Given the description of an element on the screen output the (x, y) to click on. 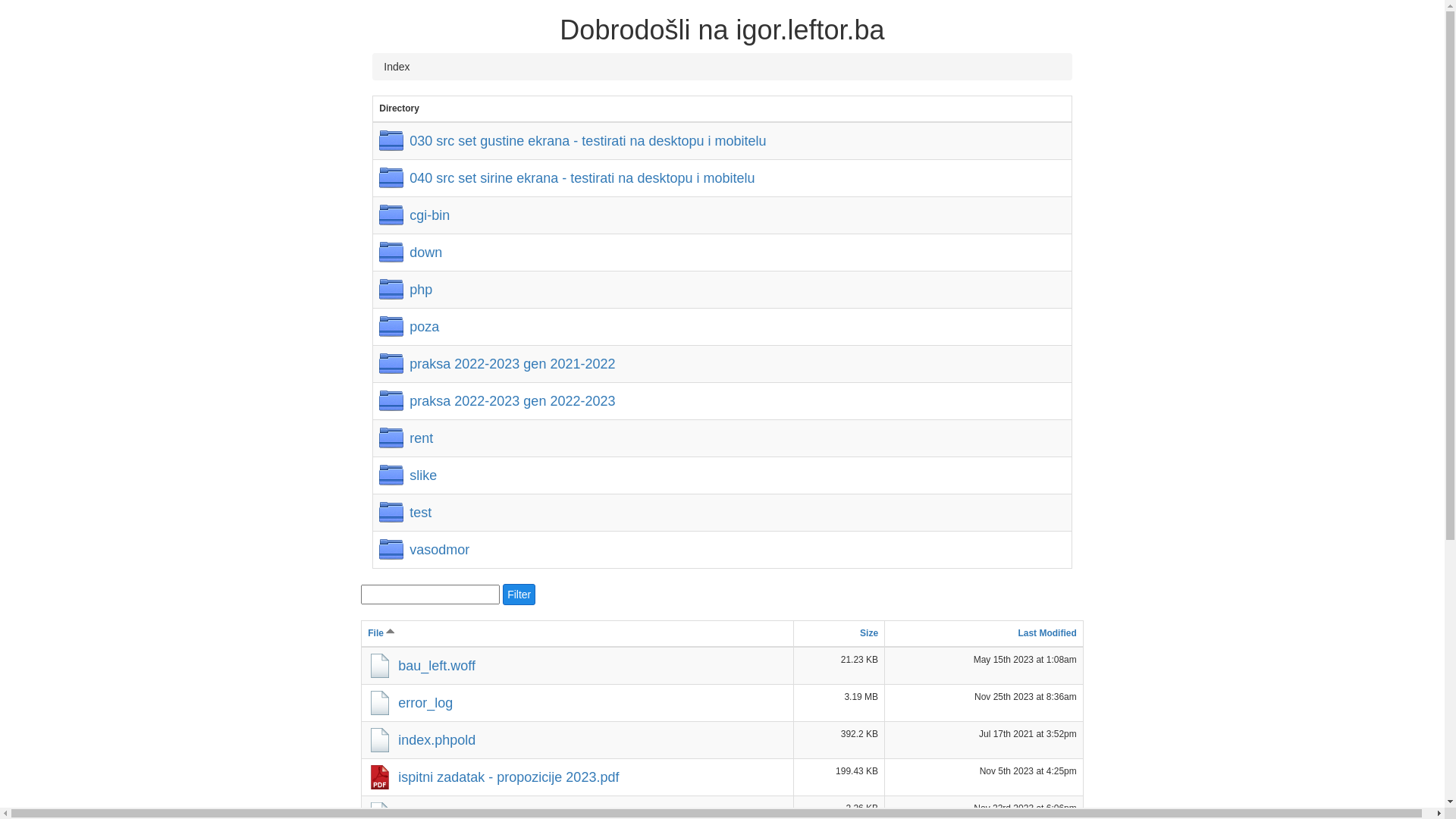
ispitni zadatak - propozicije 2023.pdf Element type: text (492, 777)
slike Element type: text (407, 475)
cgi-bin Element type: text (414, 215)
praksa 2022-2023 gen 2021-2022 Element type: text (497, 363)
Size Element type: text (868, 632)
Last Modified Element type: text (1046, 632)
File Element type: text (381, 632)
test Element type: text (405, 512)
rent Element type: text (406, 438)
praksa 2022-2023 gen 2022-2023 Element type: text (497, 401)
error_log Element type: text (409, 702)
Filter Element type: text (518, 594)
vasodmor Element type: text (424, 549)
down Element type: text (410, 252)
index.phpold Element type: text (421, 740)
poza Element type: text (409, 326)
040 src set sirine ekrana - testirati na desktopu i mobitelu Element type: text (566, 178)
bau_left.woff Element type: text (421, 665)
php Element type: text (405, 289)
